Given the description of an element on the screen output the (x, y) to click on. 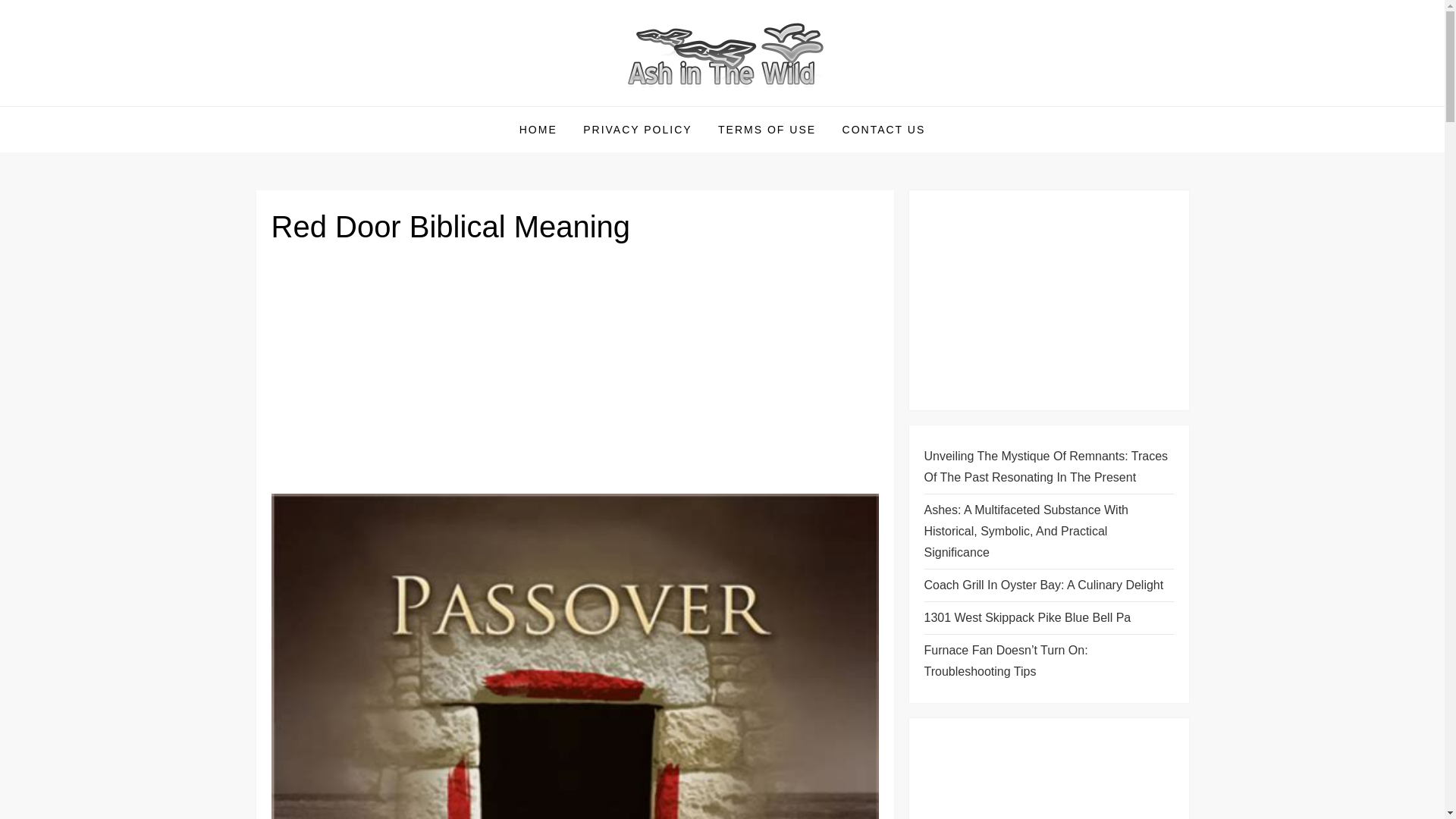
Advertisement (1048, 776)
Advertisement (1048, 299)
1301 West Skippack Pike Blue Bell Pa (1027, 617)
HOME (538, 129)
PRIVACY POLICY (637, 129)
Ash in The Wild (361, 105)
CONTACT US (884, 129)
Advertisement (574, 375)
Coach Grill In Oyster Bay: A Culinary Delight (1043, 585)
